Given the description of an element on the screen output the (x, y) to click on. 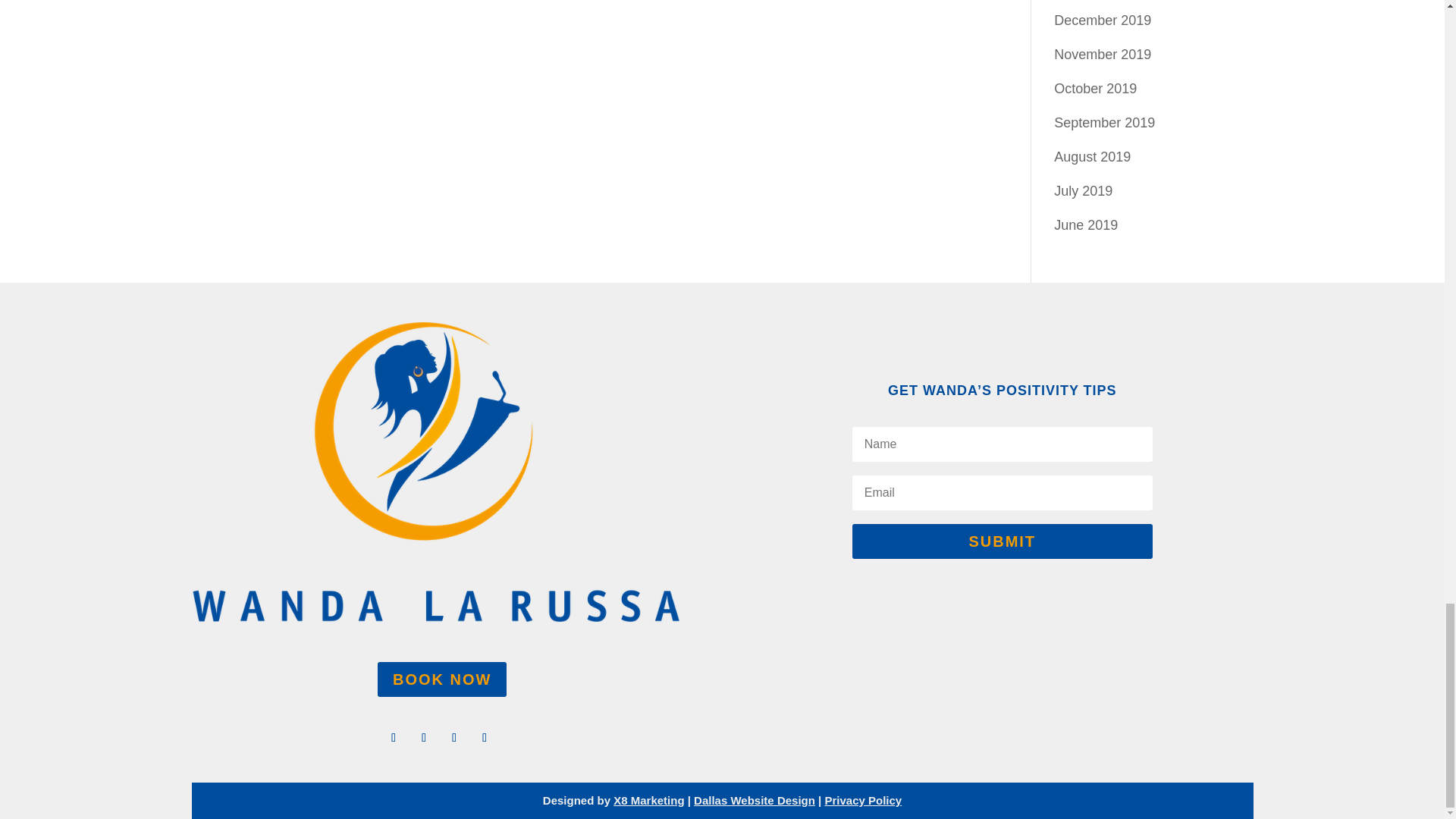
Follow on Instagram (453, 737)
Dallas Website Design (754, 799)
Follow on Facebook (393, 737)
Follow on LinkedIn (483, 737)
